Given the description of an element on the screen output the (x, y) to click on. 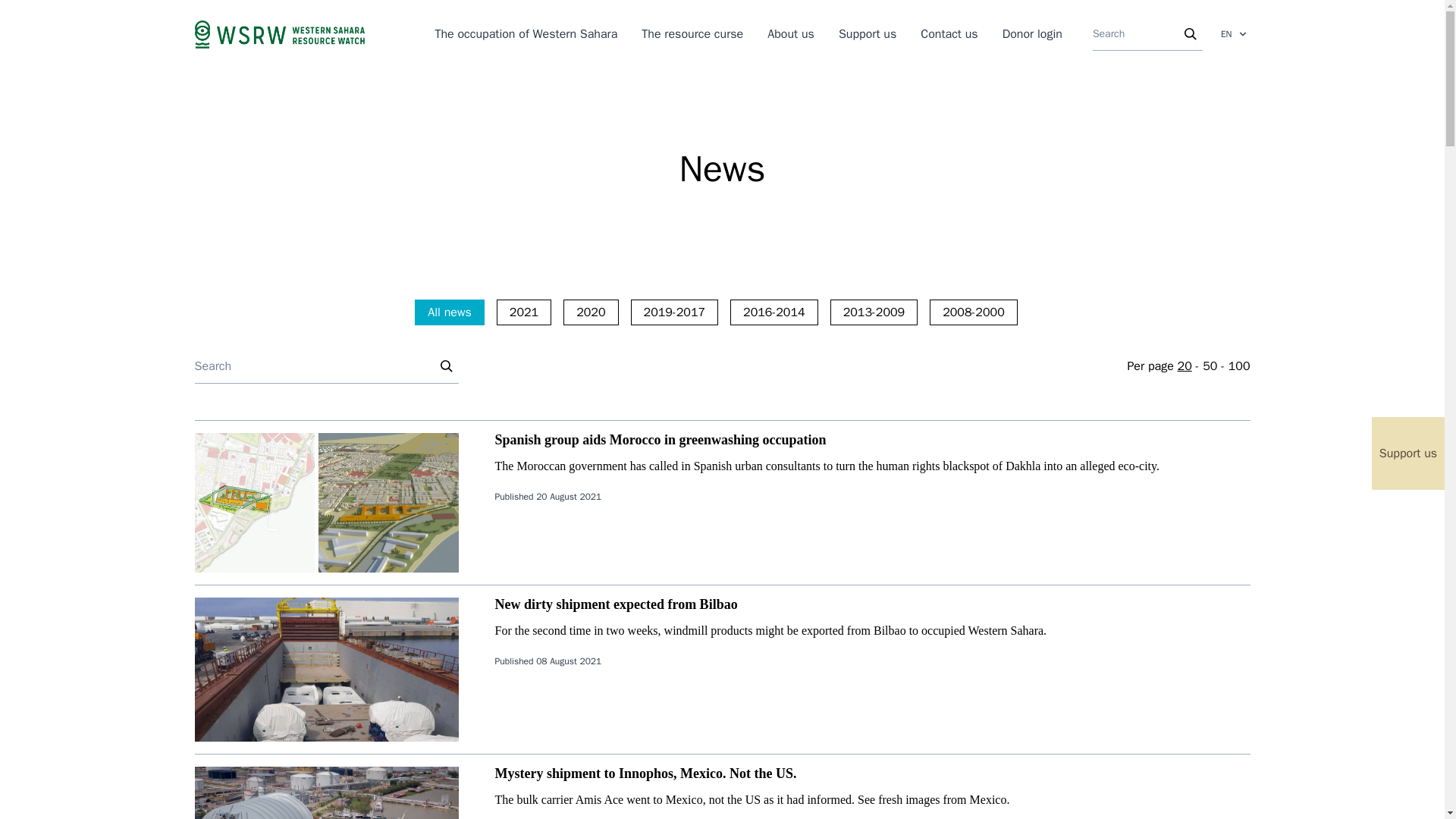
2008-2000 (973, 311)
EN (1232, 33)
2021 (523, 311)
20 (1184, 365)
Donor login (1032, 33)
Contact us (948, 33)
Mystery shipment to Innophos, Mexico. Not the US. (645, 773)
2019-2017 (674, 311)
The occupation of Western Sahara (525, 33)
2013-2009 (873, 311)
2016-2014 (774, 311)
The resource curse (692, 33)
All news (449, 311)
100 (1239, 365)
2020 (590, 311)
